Given the description of an element on the screen output the (x, y) to click on. 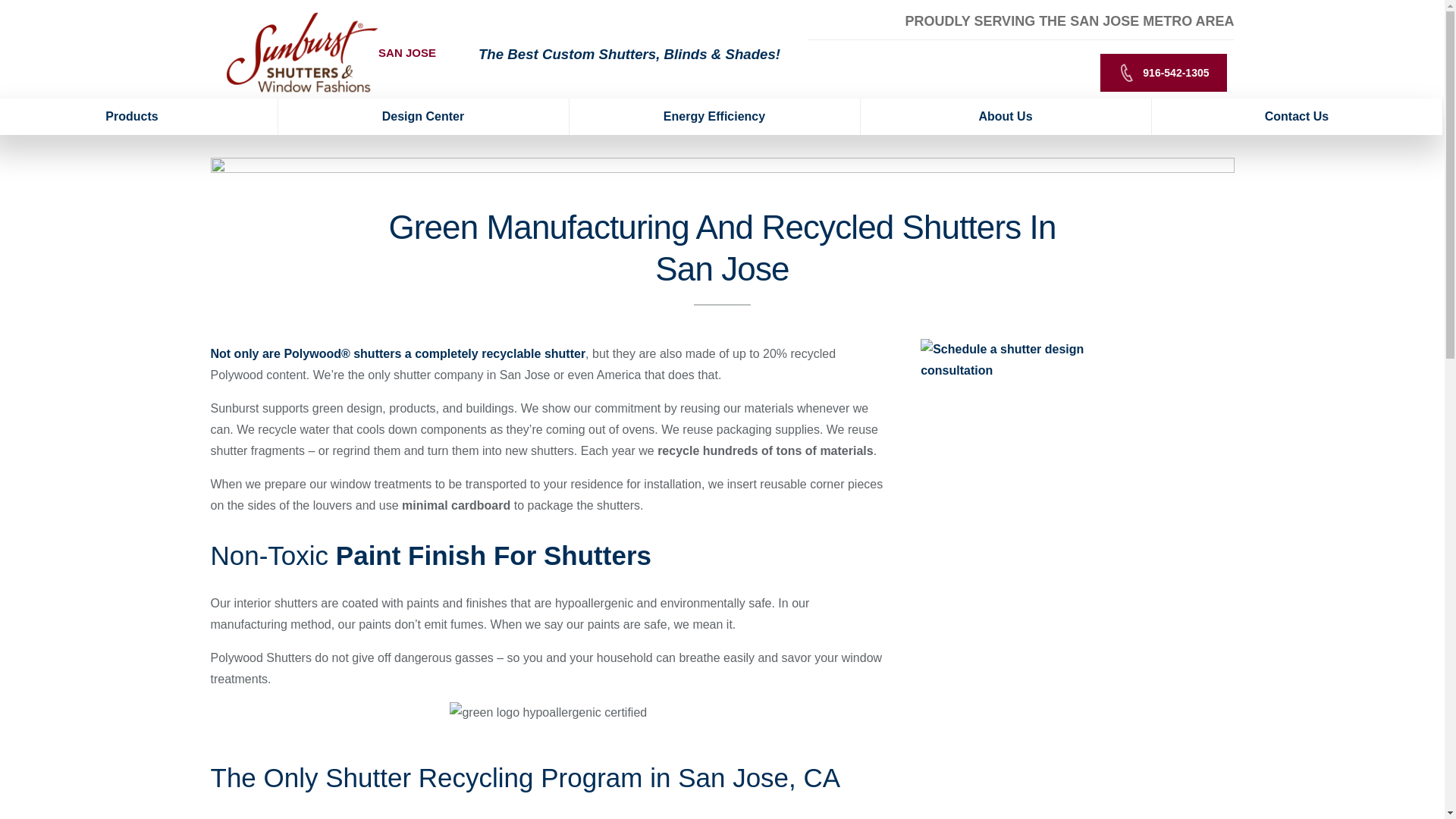
916-542-1305 (1162, 72)
Products (139, 116)
Design Center (423, 116)
Sunburst Shutters San Jose Home (301, 52)
